Given the description of an element on the screen output the (x, y) to click on. 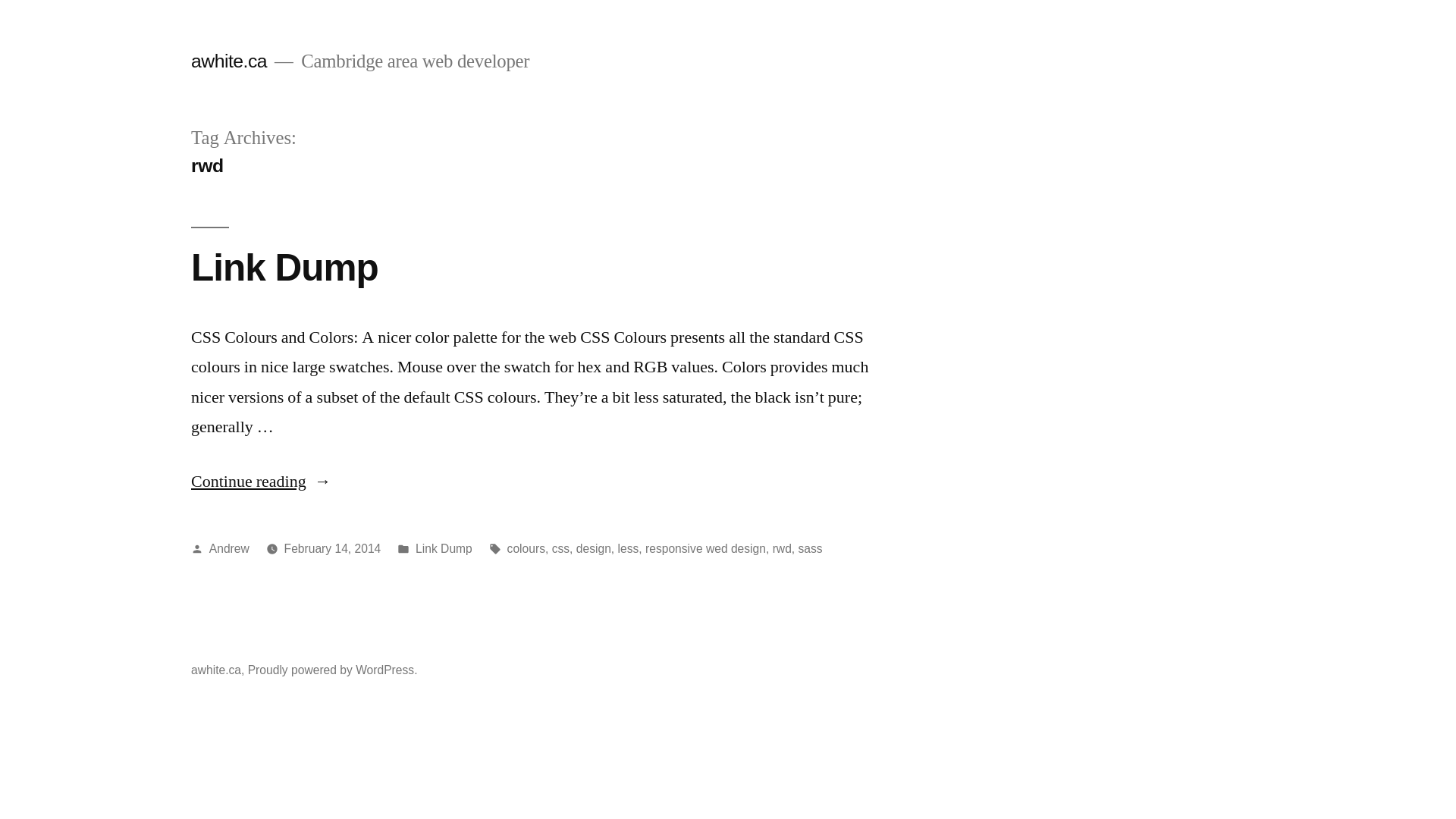
awhite.ca Element type: text (228, 60)
less Element type: text (628, 548)
February 14, 2014 Element type: text (332, 548)
Link Dump Element type: text (284, 267)
responsive wed design Element type: text (705, 548)
rwd Element type: text (781, 548)
sass Element type: text (810, 548)
Andrew Element type: text (229, 548)
design Element type: text (593, 548)
Link Dump Element type: text (443, 548)
colours Element type: text (526, 548)
awhite.ca Element type: text (216, 669)
Proudly powered by WordPress. Element type: text (332, 669)
css Element type: text (560, 548)
